Given the description of an element on the screen output the (x, y) to click on. 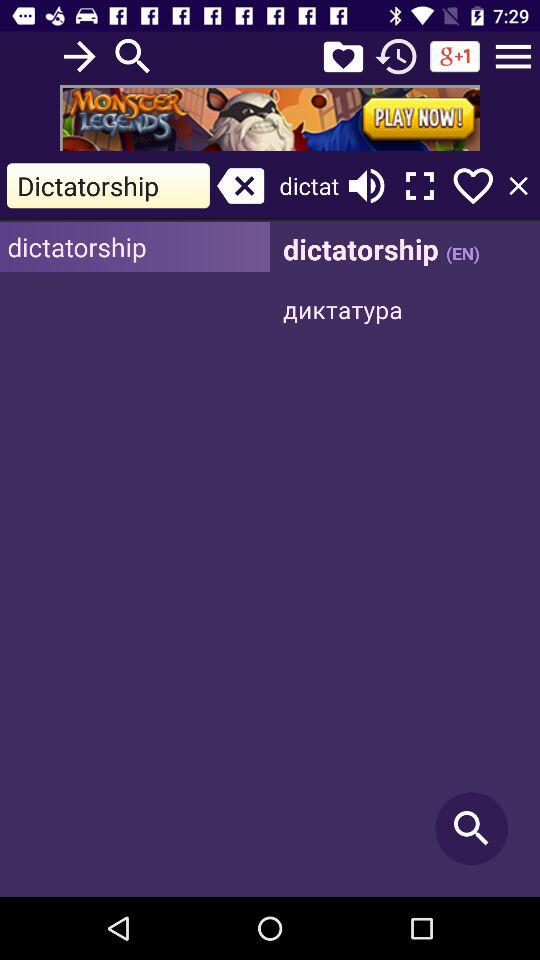
speak loudly (366, 185)
